Given the description of an element on the screen output the (x, y) to click on. 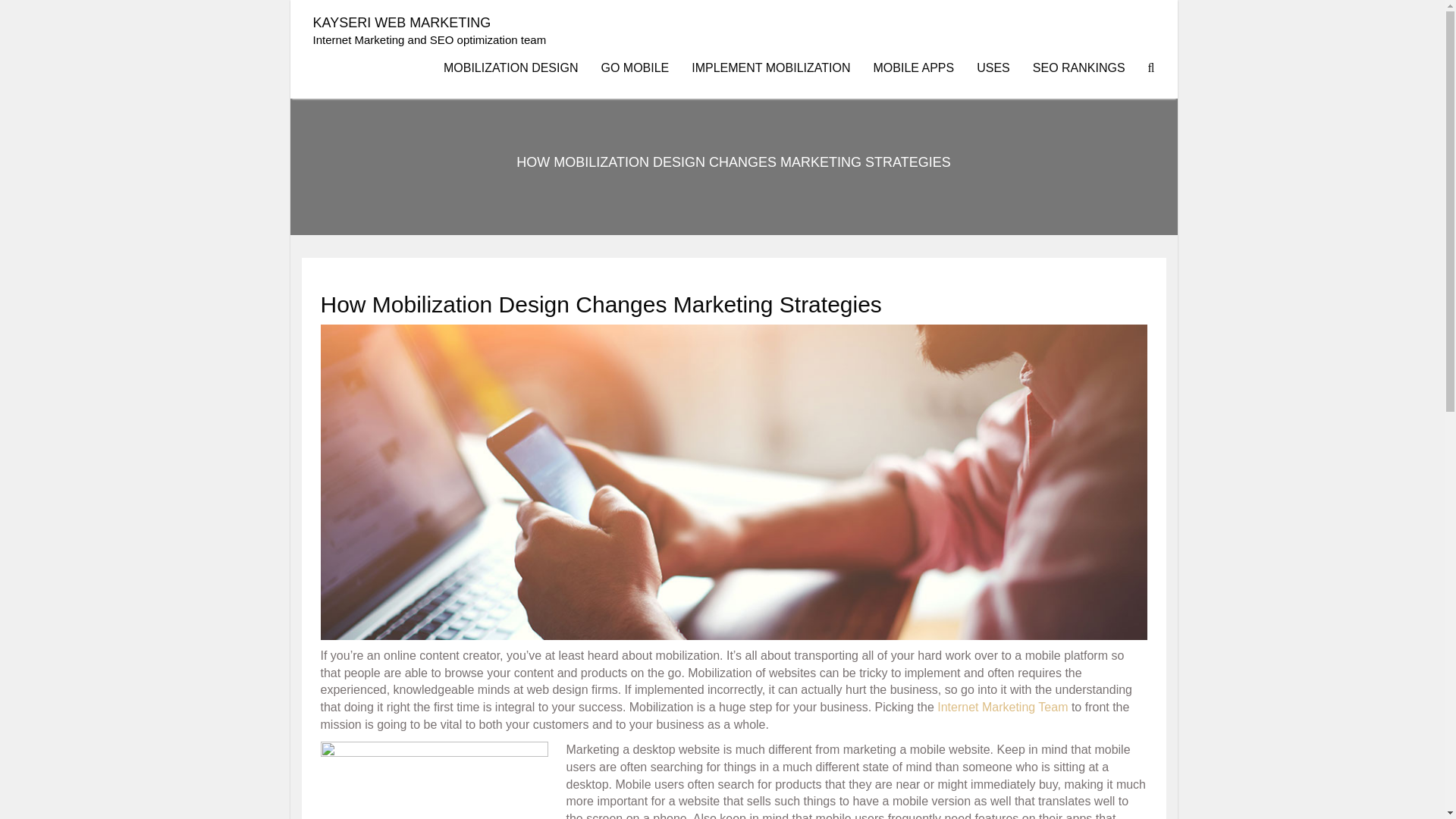
Implement Mobilization (770, 67)
GO MOBILE (634, 67)
Go Mobile (634, 67)
IMPLEMENT MOBILIZATION (770, 67)
KAYSERI WEB MARKETING (401, 22)
Mobilization Design (510, 67)
MOBILIZATION DESIGN (510, 67)
